Given the description of an element on the screen output the (x, y) to click on. 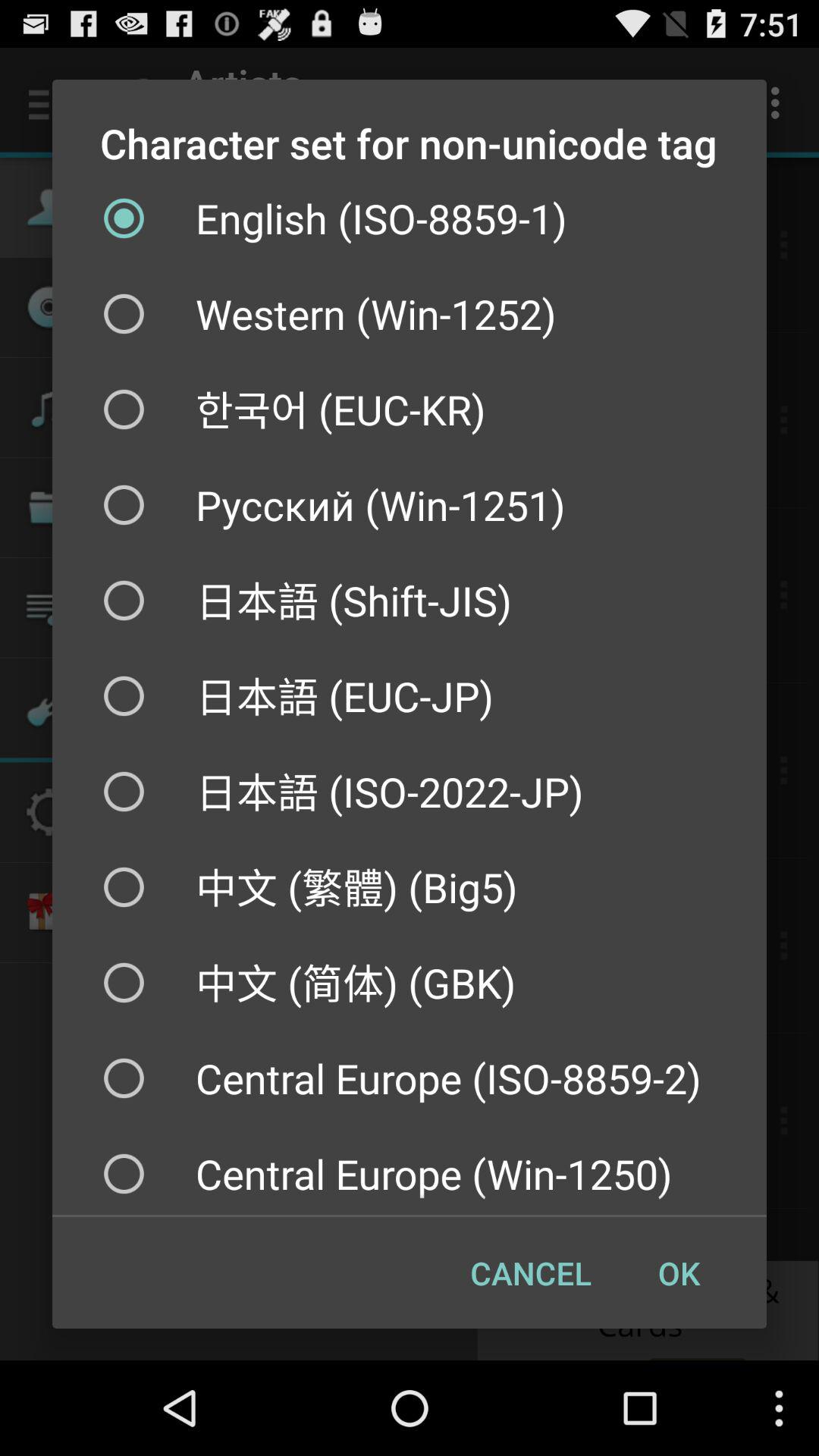
select the item next to the ok button (530, 1272)
